Given the description of an element on the screen output the (x, y) to click on. 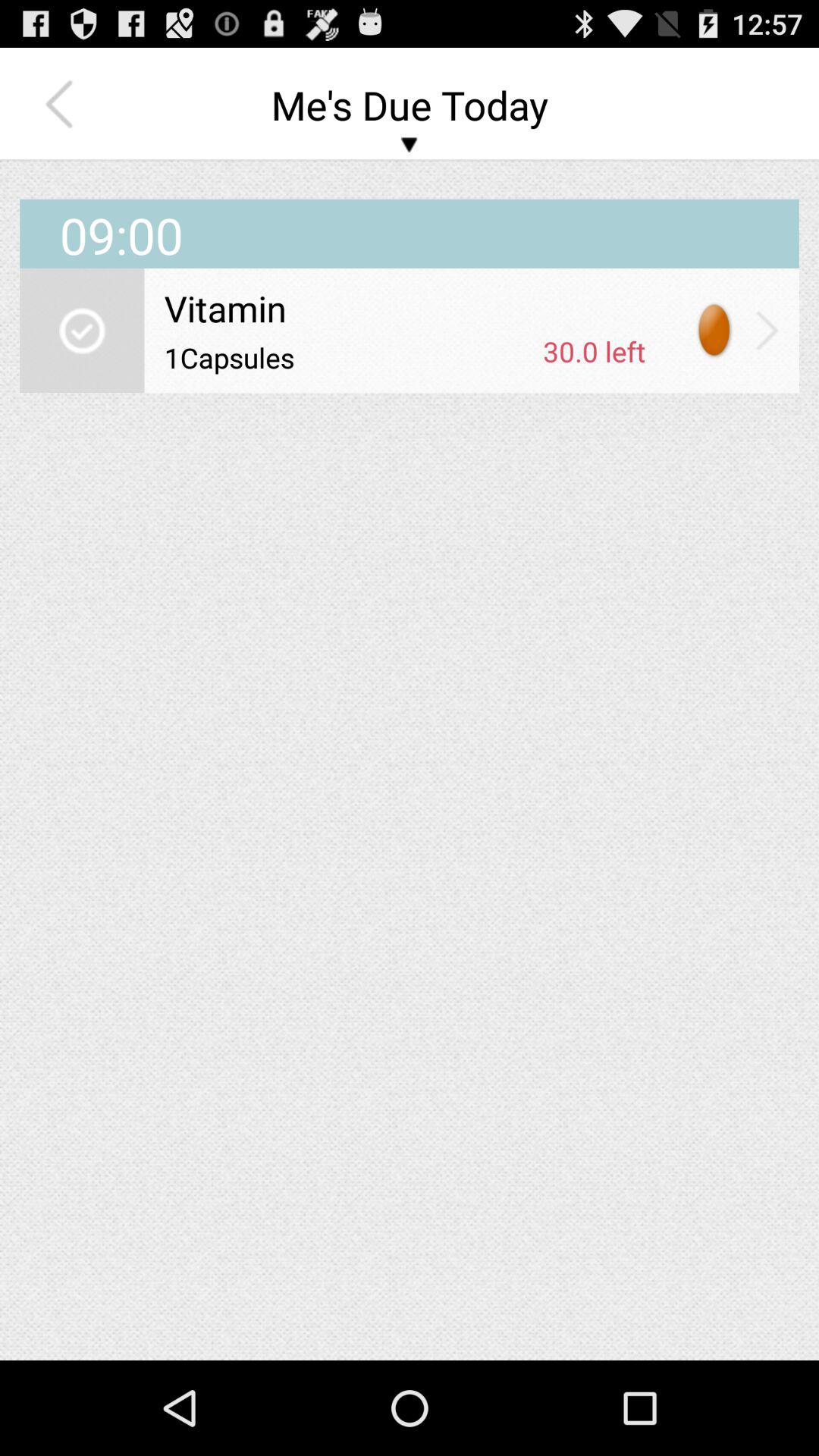
turn on the app to the left of the me s due item (63, 104)
